Given the description of an element on the screen output the (x, y) to click on. 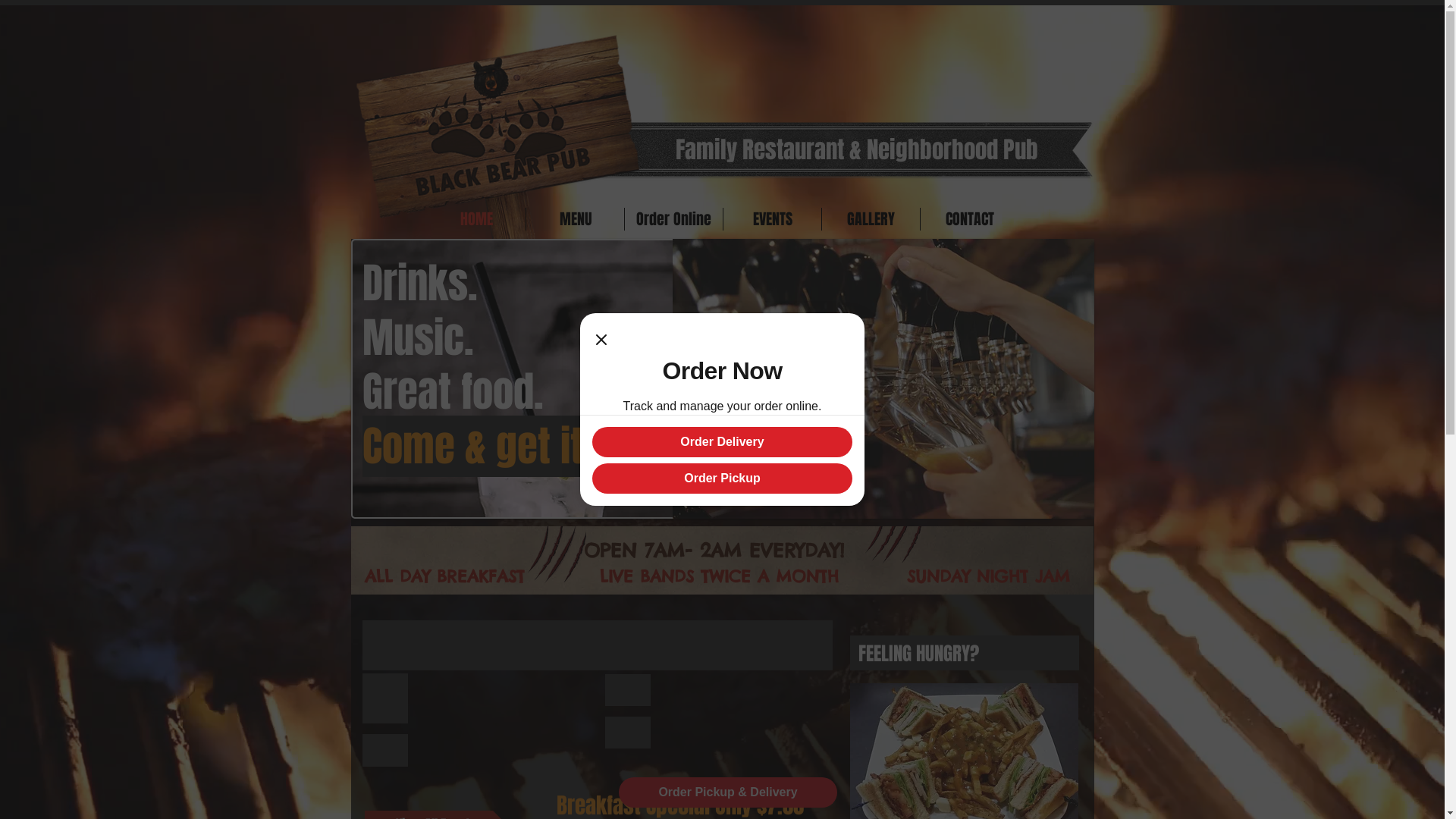
EVENTS Element type: text (772, 218)
GALLERY Element type: text (870, 218)
Order Pickup Element type: text (722, 478)
Order Delivery Element type: text (722, 441)
Mojito Element type: hover (721, 560)
HOME Element type: text (475, 218)
MENU Element type: text (575, 218)
Order Online Element type: text (673, 218)
Mojito Element type: hover (721, 378)
Family Restaurant & Neighborhood Pub Element type: text (855, 149)
Order Pickup & Delivery Element type: text (727, 791)
CONTACT Element type: text (969, 218)
